Given the description of an element on the screen output the (x, y) to click on. 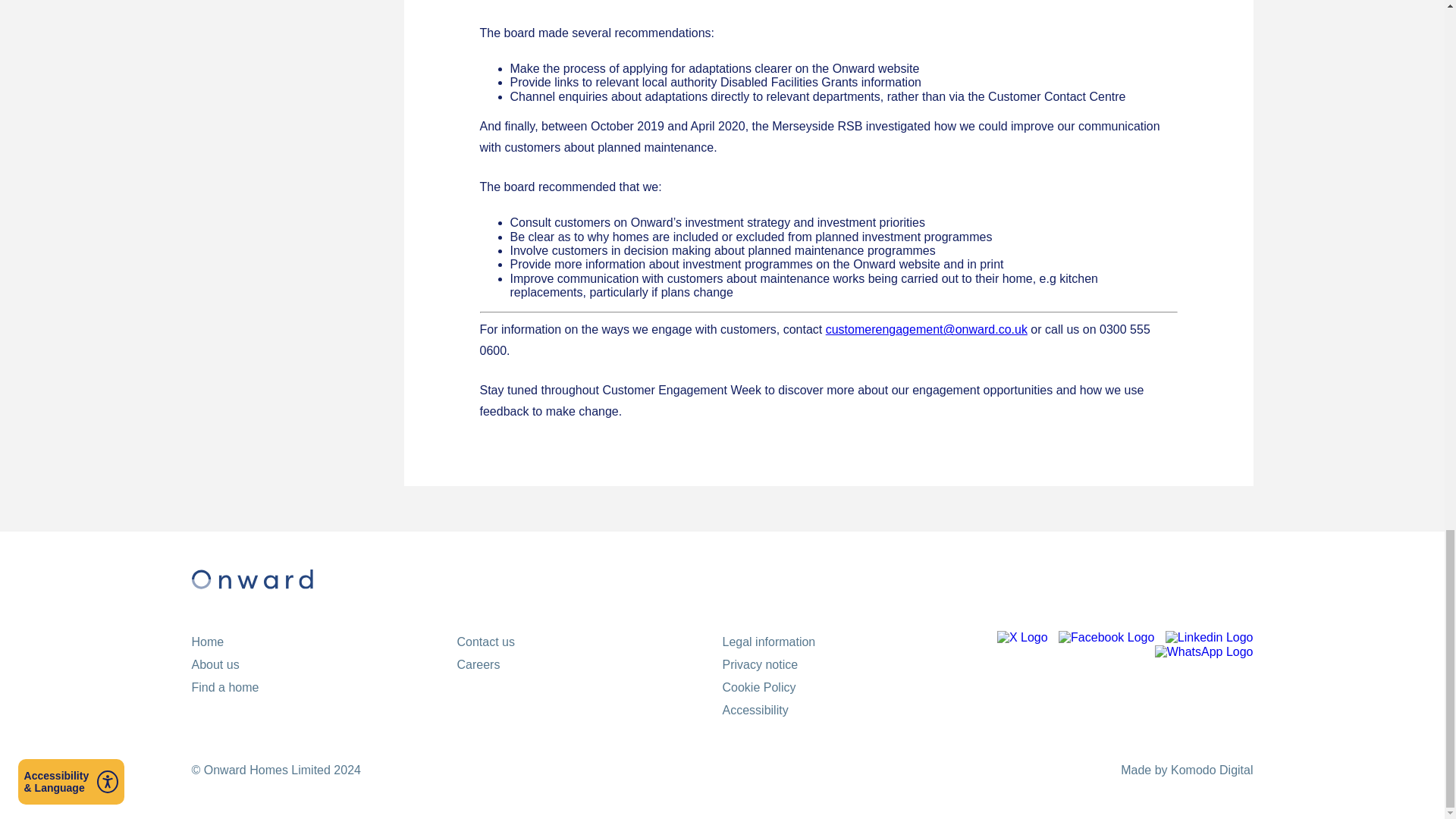
We (1186, 769)
Home (207, 641)
About us (214, 664)
Find a home (224, 686)
Contact us (485, 641)
Careers (478, 664)
